Given the description of an element on the screen output the (x, y) to click on. 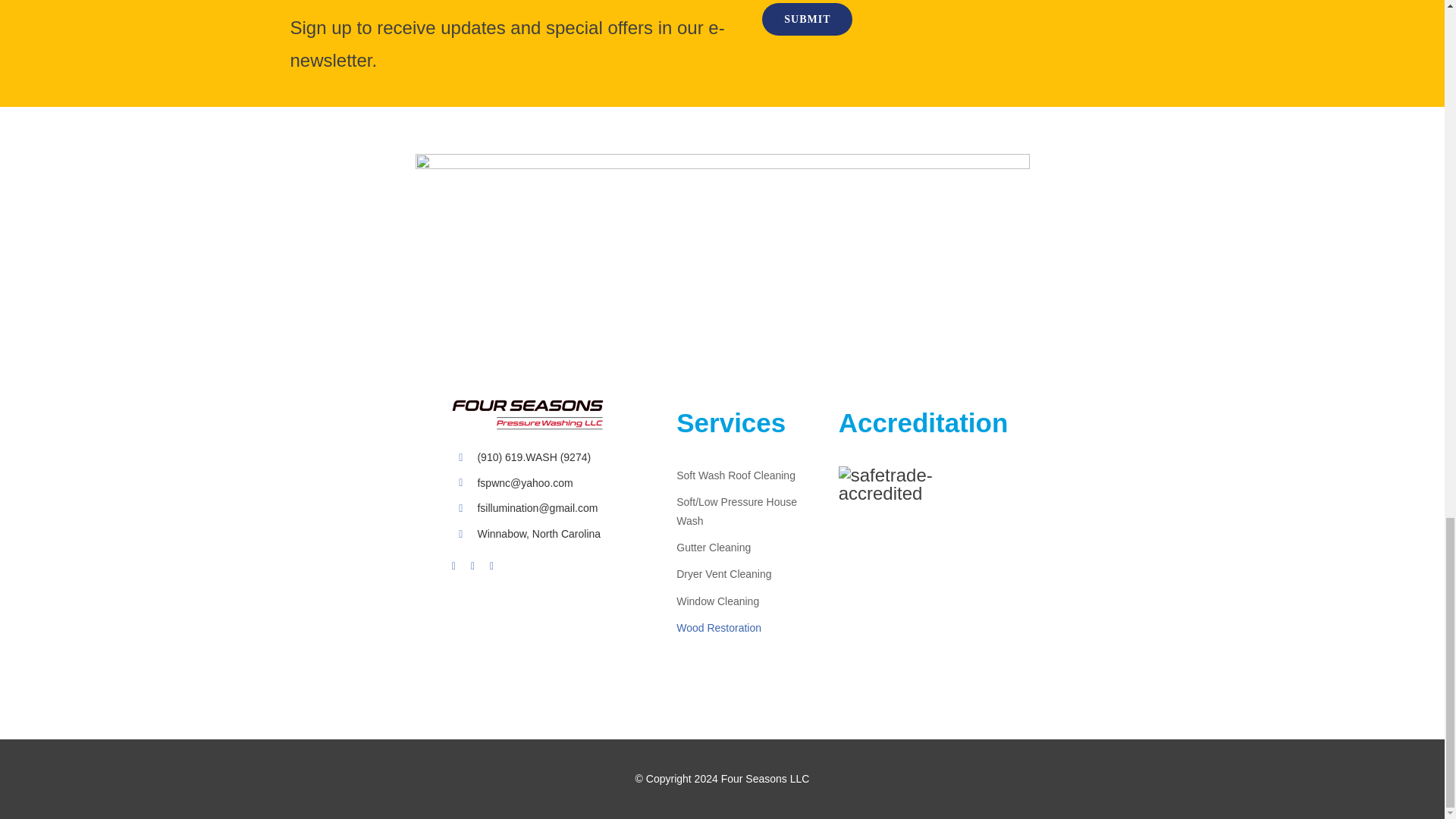
SUBMIT (946, 27)
E-News (514, 5)
Guarantee (721, 184)
FourSeasonsLogo (527, 414)
